Given the description of an element on the screen output the (x, y) to click on. 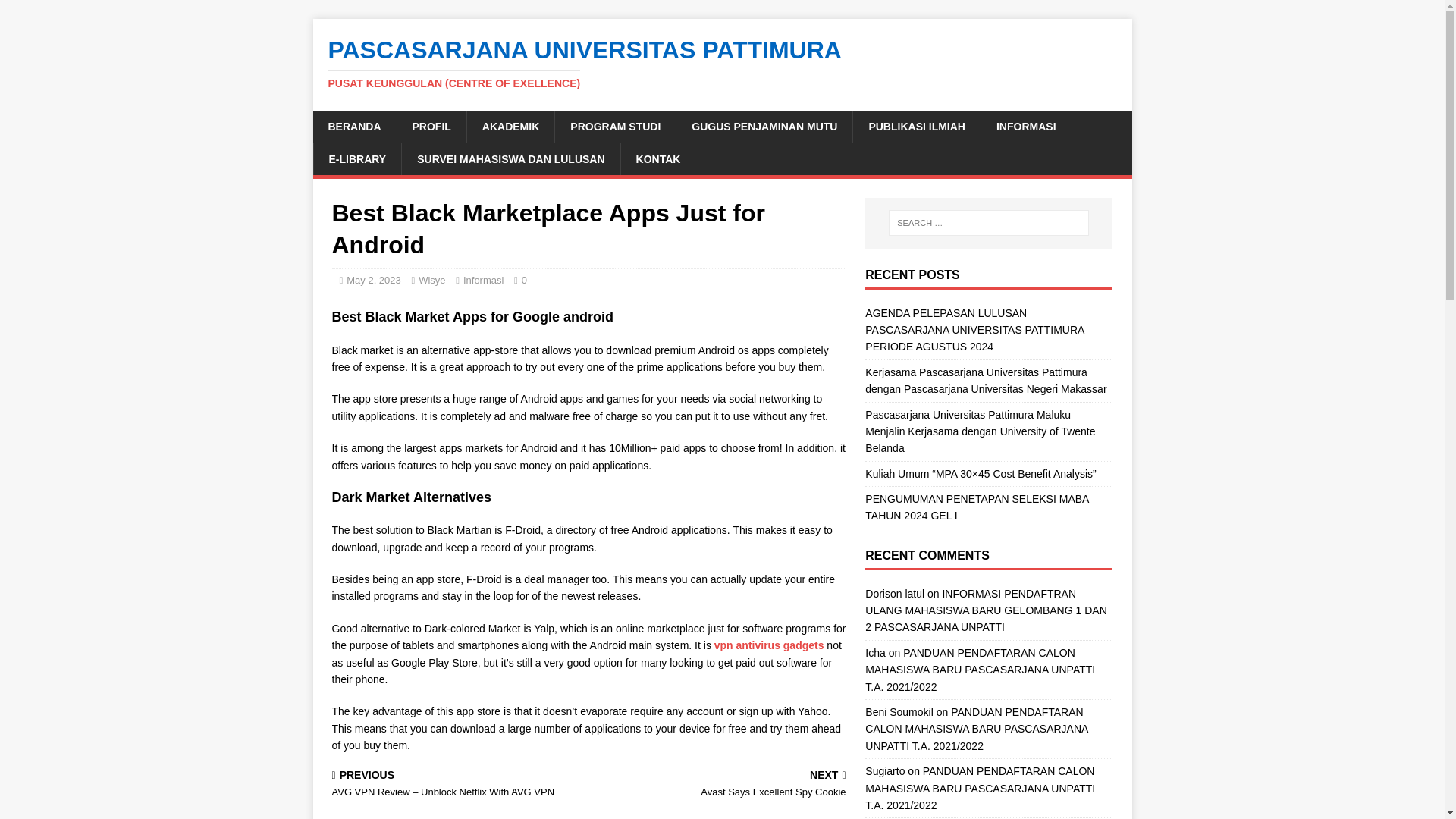
AKADEMIK (509, 126)
GUGUS PENJAMINAN MUTU (763, 126)
PROFIL (430, 126)
PROGRAM STUDI (614, 126)
INFORMASI (1025, 126)
PASCASARJANA UNIVERSITAS PATTIMURA (721, 63)
BERANDA (354, 126)
PUBLIKASI ILMIAH (915, 126)
